Given the description of an element on the screen output the (x, y) to click on. 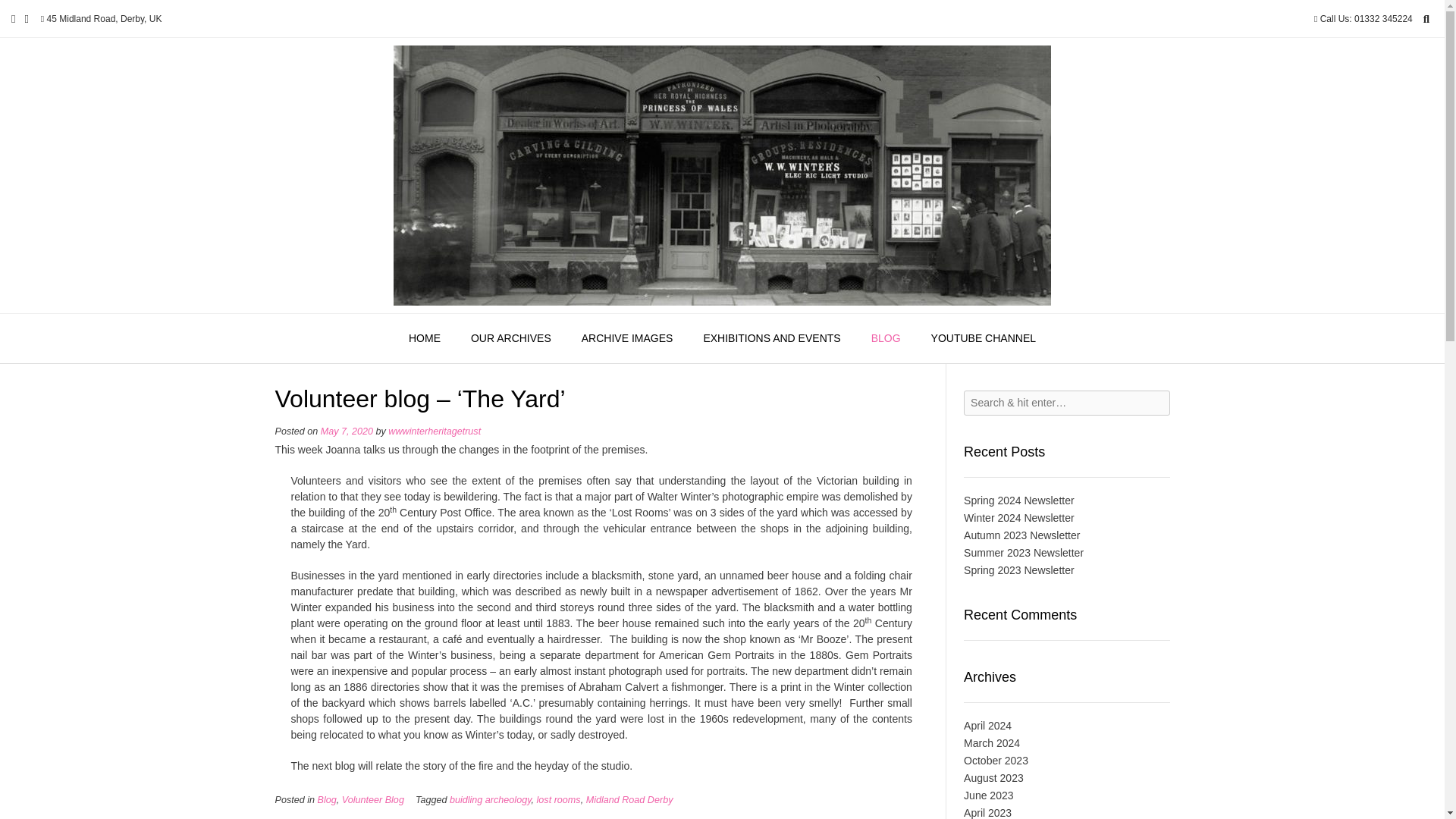
EXHIBITIONS AND EVENTS (771, 338)
June 2023 (988, 795)
Autumn 2023 Newsletter (1021, 535)
Winter 2024 Newsletter (1018, 517)
OUR ARCHIVES (510, 338)
YOUTUBE CHANNEL (983, 338)
Summer 2023 Newsletter (1023, 552)
HOME (424, 338)
BLOG (885, 338)
April 2023 (987, 812)
